Given the description of an element on the screen output the (x, y) to click on. 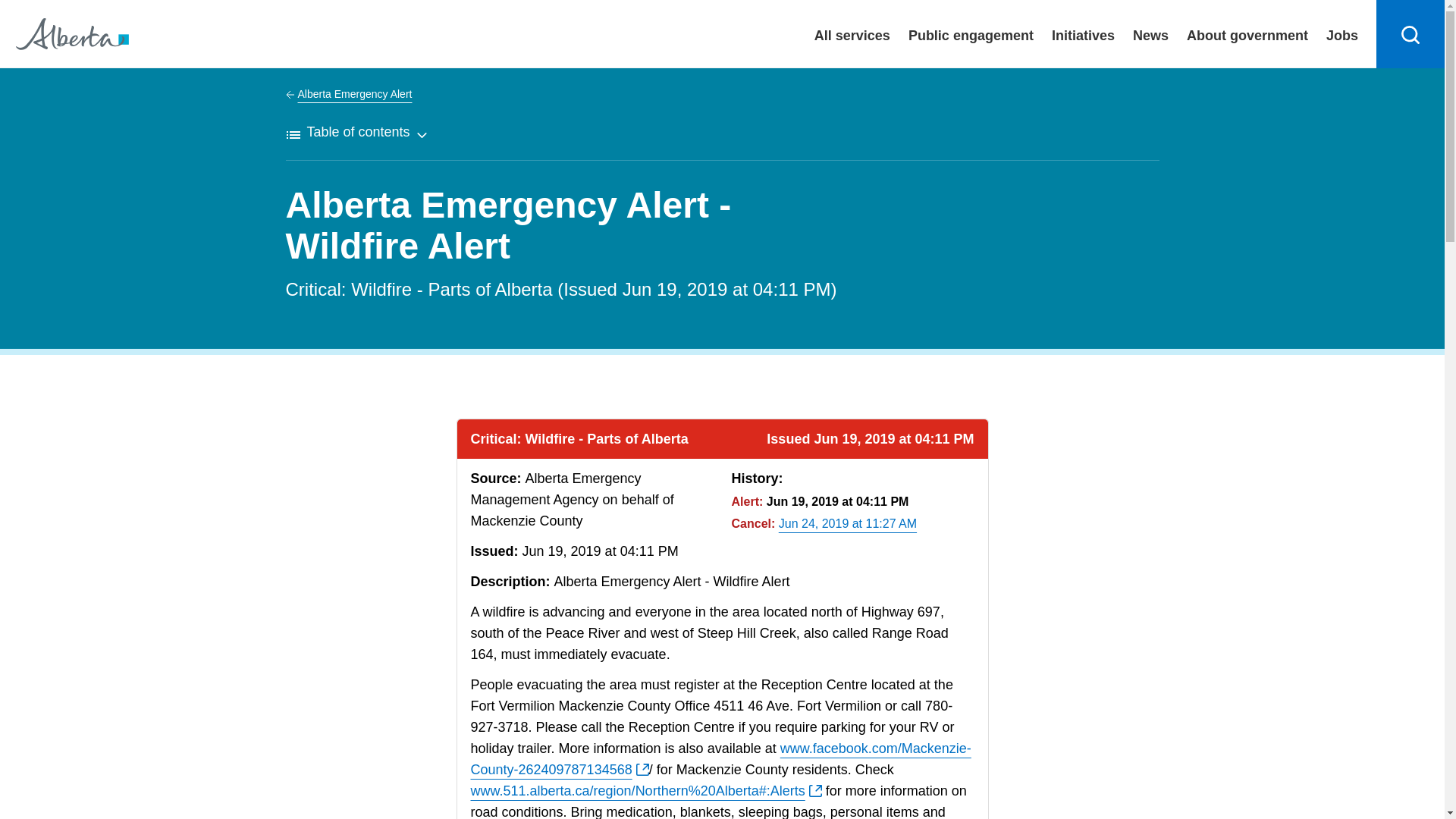
Alberta Emergency Alert (348, 93)
Initiatives (1083, 33)
About government (1247, 33)
Table of contents (356, 132)
Jun 24, 2019 at 11:27 AM (847, 522)
Critical cancel (753, 522)
All services (852, 33)
Critical alert (747, 501)
Public engagement (970, 33)
